Given the description of an element on the screen output the (x, y) to click on. 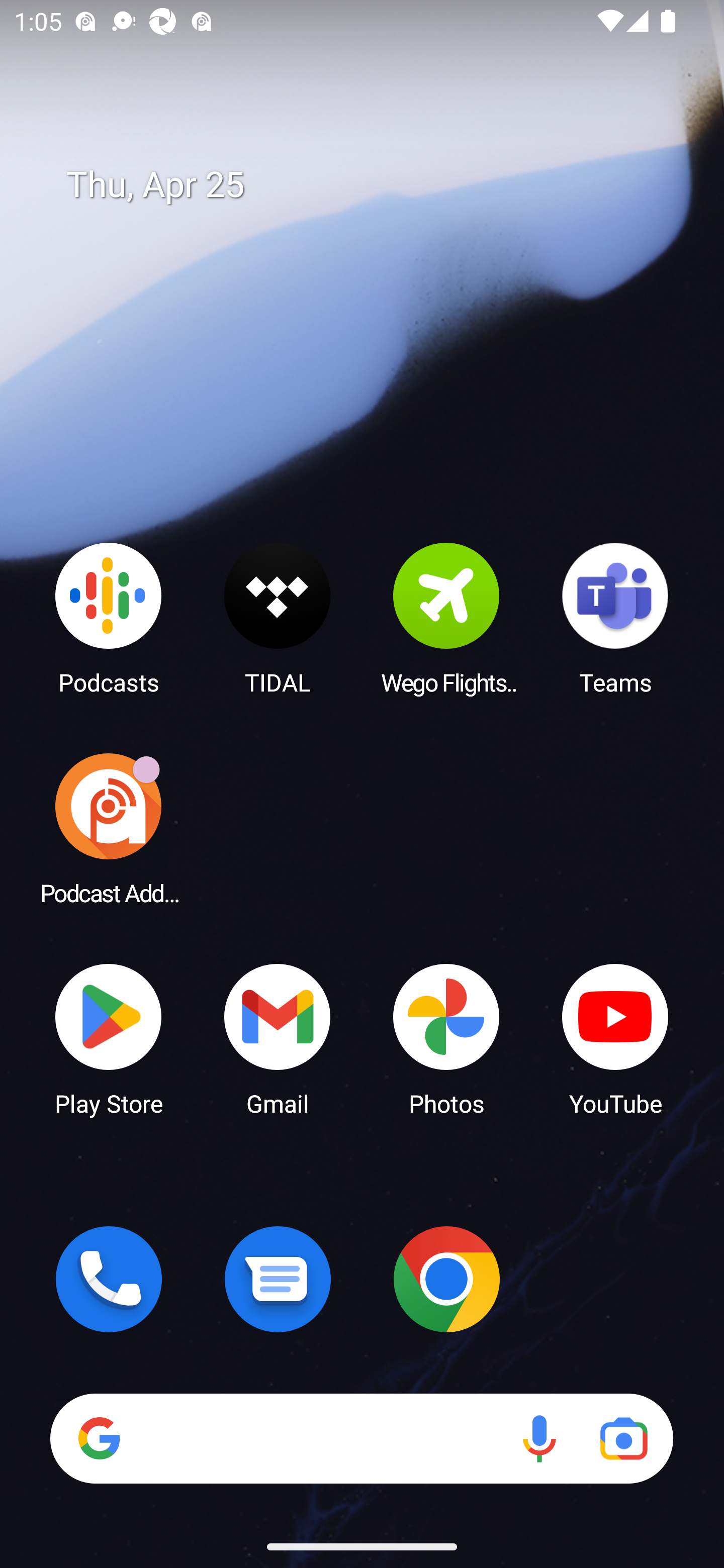
Thu, Apr 25 (375, 184)
Podcasts (108, 617)
TIDAL (277, 617)
Wego Flights & Hotels (445, 617)
Teams (615, 617)
Play Store (108, 1038)
Gmail (277, 1038)
Photos (445, 1038)
YouTube (615, 1038)
Phone (108, 1279)
Messages (277, 1279)
Chrome (446, 1279)
Search Voice search Google Lens (361, 1438)
Voice search (539, 1438)
Google Lens (623, 1438)
